Given the description of an element on the screen output the (x, y) to click on. 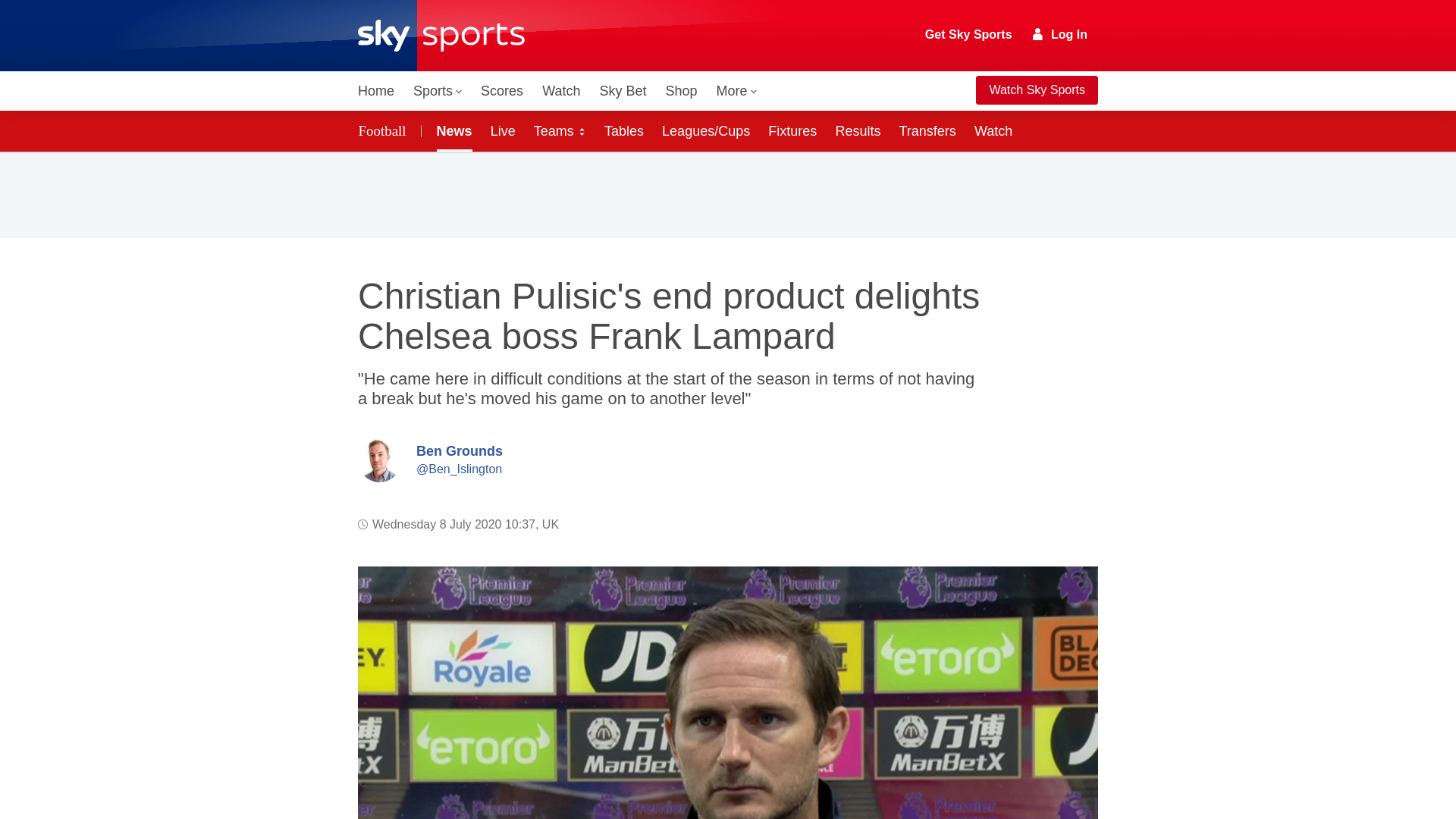
More (736, 91)
Home (375, 91)
Scores (502, 91)
Shop (681, 91)
Sports (437, 91)
Watch Sky Sports (1036, 90)
Watch (561, 91)
Log In (1060, 33)
News (451, 130)
Get Sky Sports (968, 34)
